Given the description of an element on the screen output the (x, y) to click on. 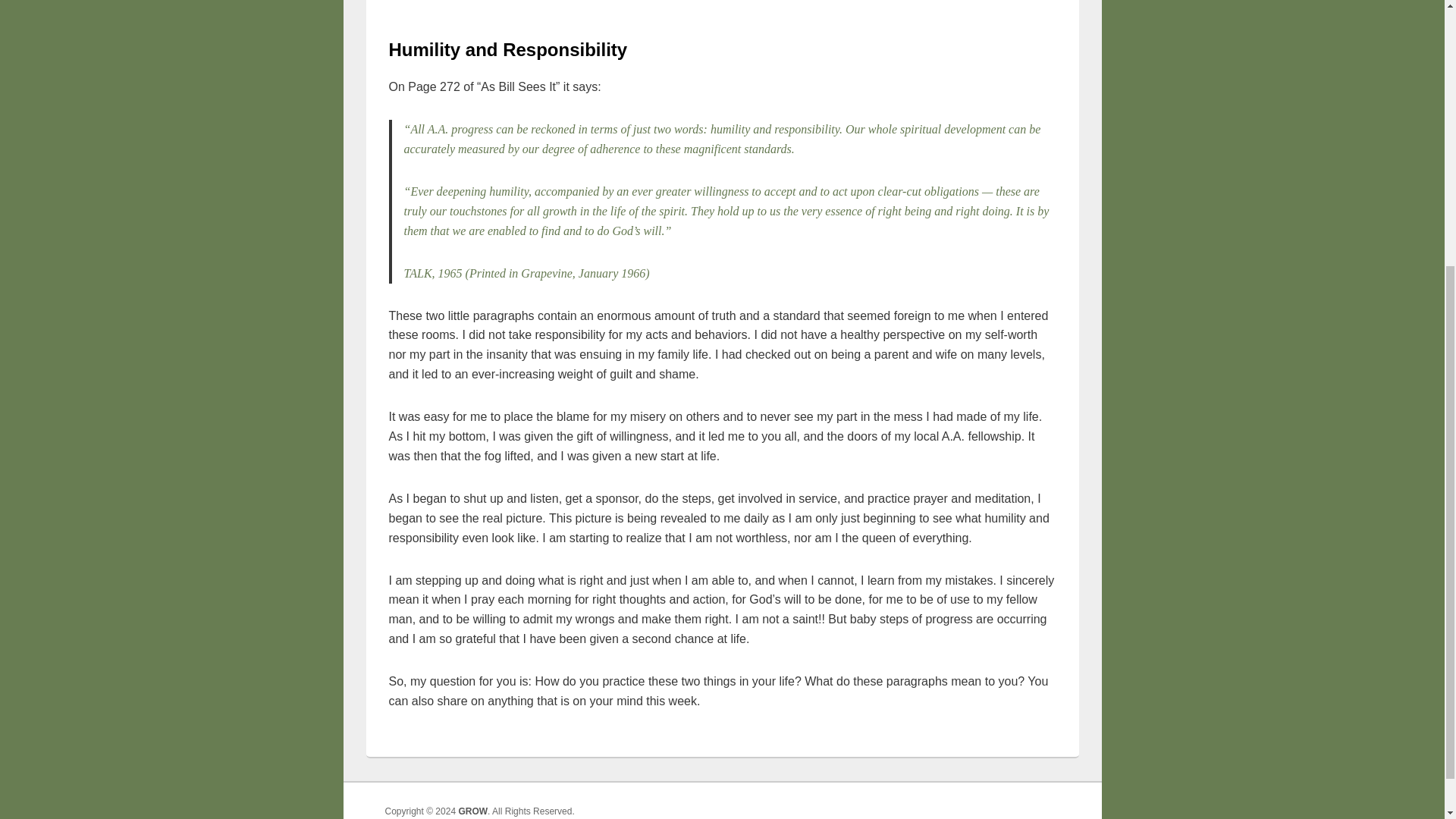
GROW (472, 810)
